Given the description of an element on the screen output the (x, y) to click on. 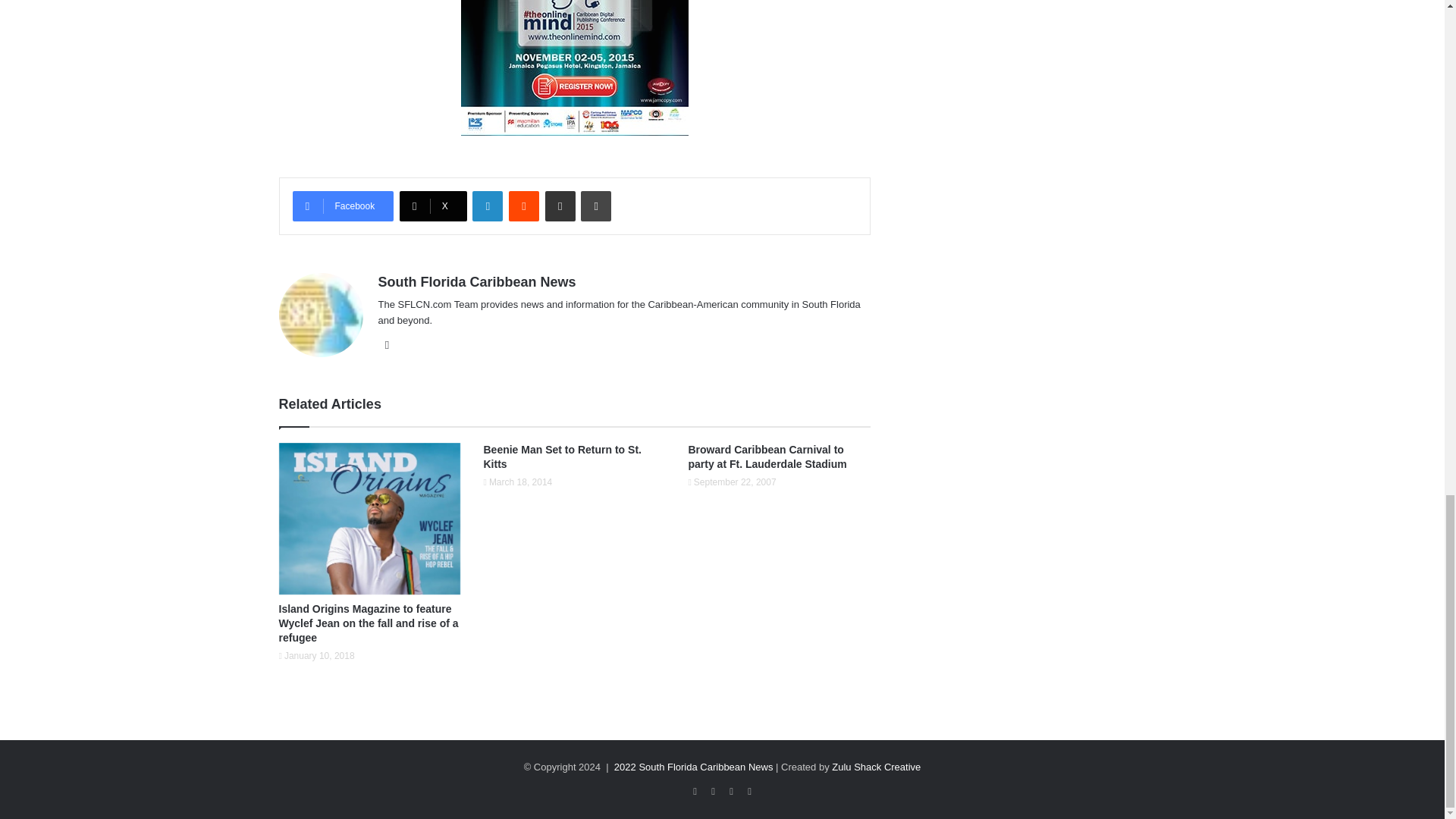
Facebook (343, 205)
Facebook (343, 205)
LinkedIn (486, 205)
X (432, 205)
LinkedIn (486, 205)
X (432, 205)
Print (595, 205)
Reddit (523, 205)
Share via Email (559, 205)
